Given the description of an element on the screen output the (x, y) to click on. 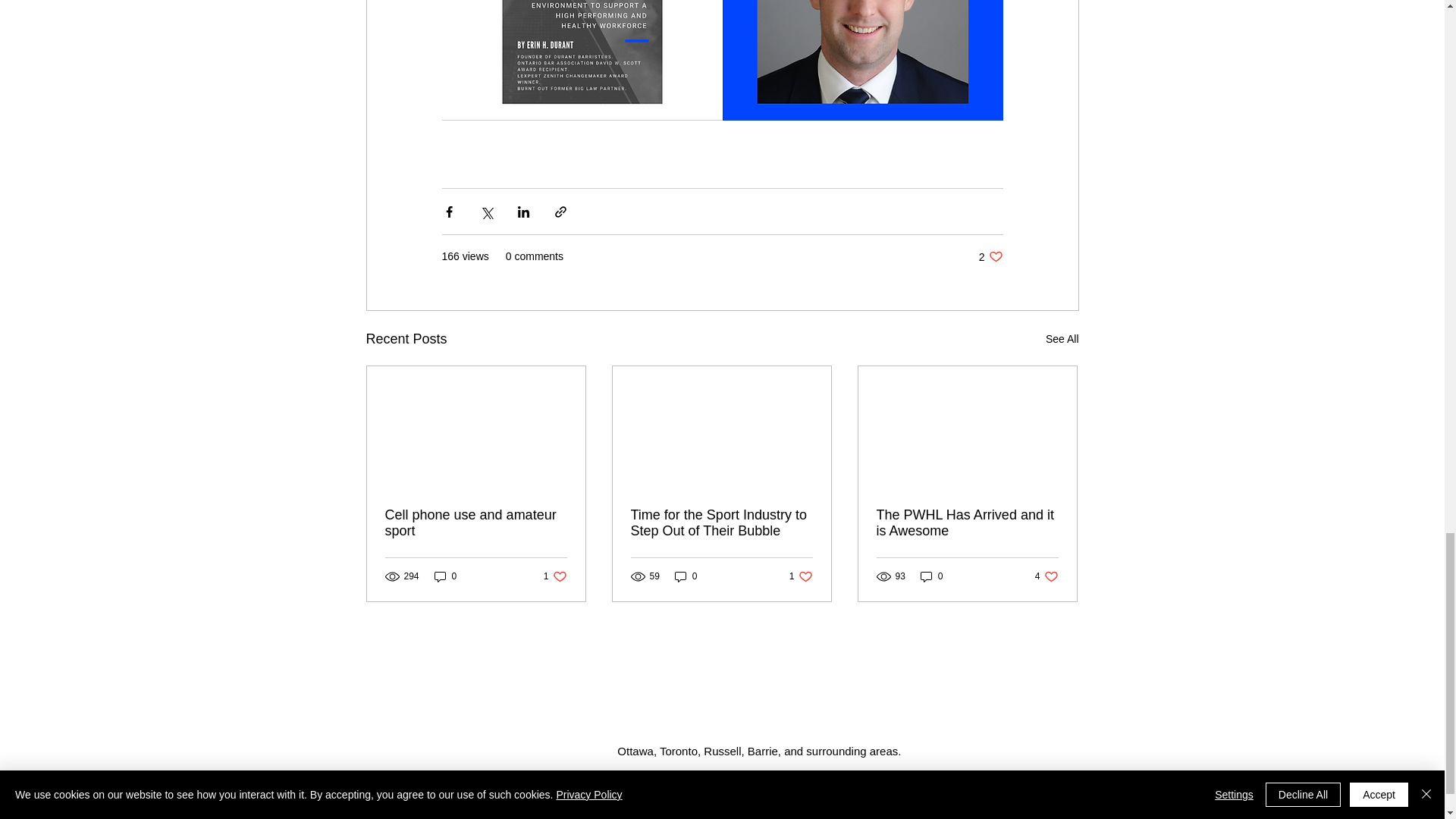
See All (555, 575)
0 (1061, 339)
Cell phone use and amateur sport (445, 575)
